Given the description of an element on the screen output the (x, y) to click on. 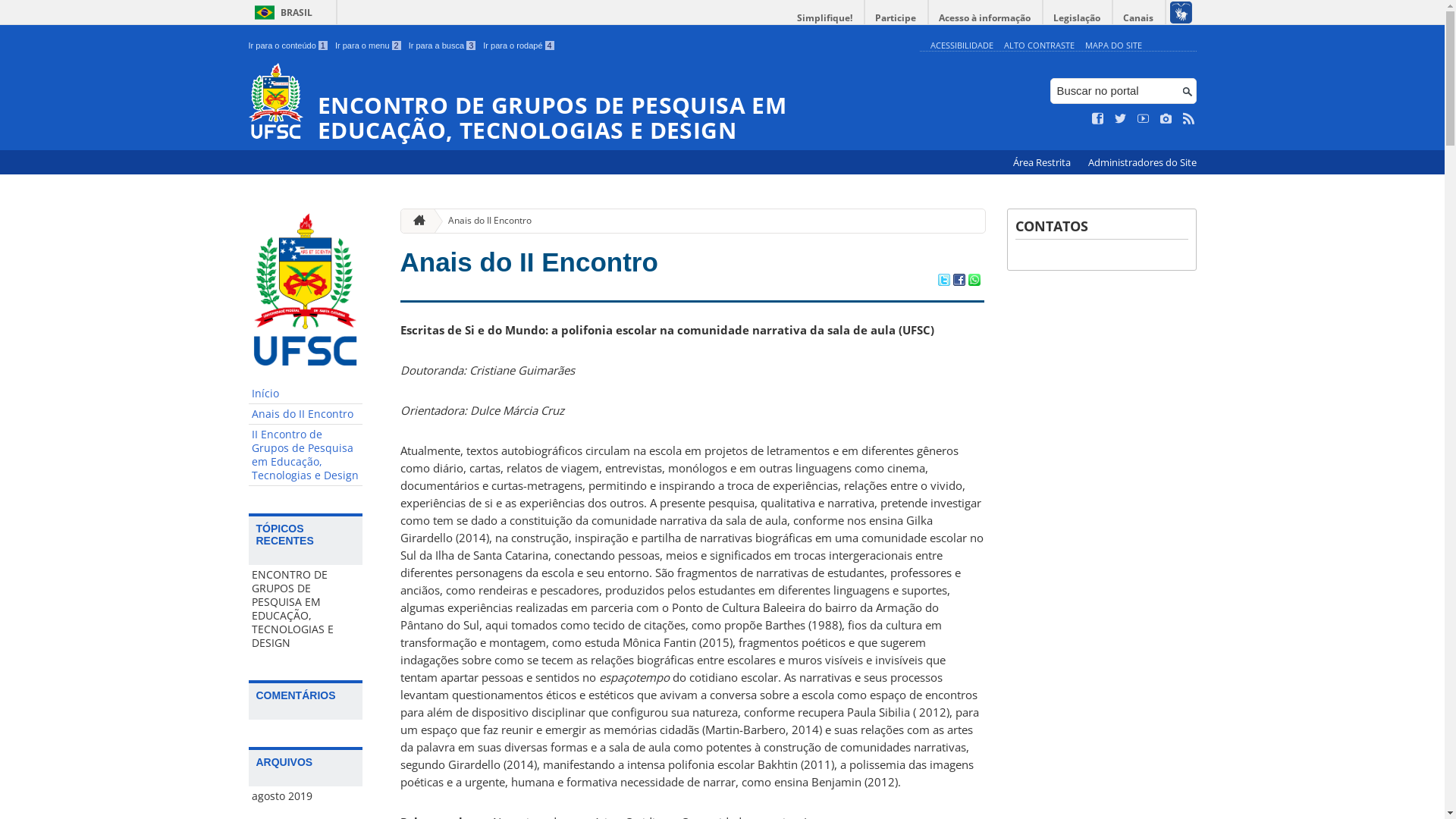
ALTO CONTRASTE Element type: text (1039, 44)
Anais do II Encontro Element type: text (305, 414)
Compartilhar no Twitter Element type: hover (943, 280)
agosto 2019 Element type: text (305, 796)
Compartilhar no WhatsApp Element type: hover (973, 280)
Curta no Facebook Element type: hover (1098, 118)
Participe Element type: text (895, 18)
Anais do II Encontro Element type: text (483, 220)
Siga no Twitter Element type: hover (1120, 118)
Simplifique! Element type: text (825, 18)
BRASIL Element type: text (280, 12)
Canais Element type: text (1138, 18)
MAPA DO SITE Element type: text (1112, 44)
Compartilhar no Facebook Element type: hover (958, 280)
ACESSIBILIDADE Element type: text (960, 44)
Ir para a busca 3 Element type: text (442, 45)
Anais do II Encontro Element type: text (529, 261)
Administradores do Site Element type: text (1141, 162)
Ir para o menu 2 Element type: text (368, 45)
Veja no Instagram Element type: hover (1166, 118)
